Given the description of an element on the screen output the (x, y) to click on. 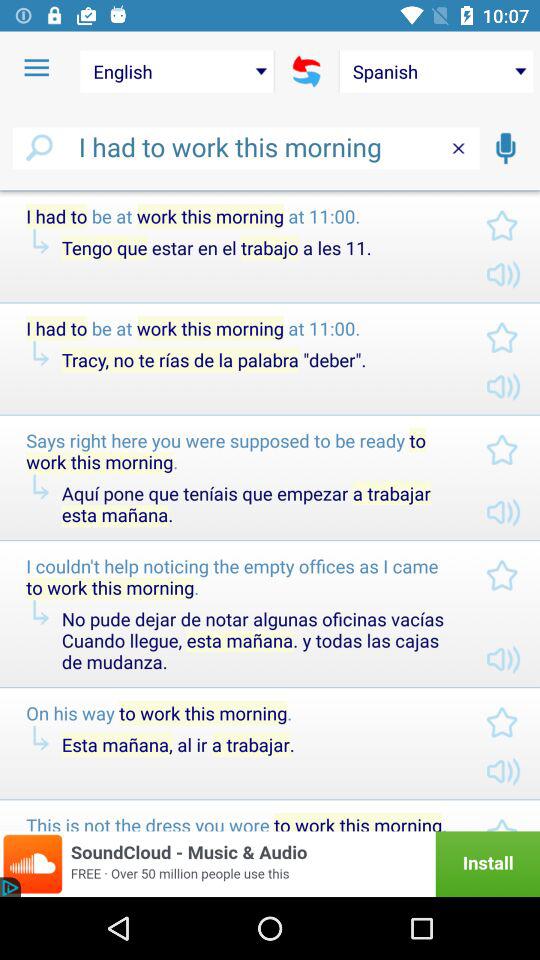
open item to the left of english item (36, 68)
